Given the description of an element on the screen output the (x, y) to click on. 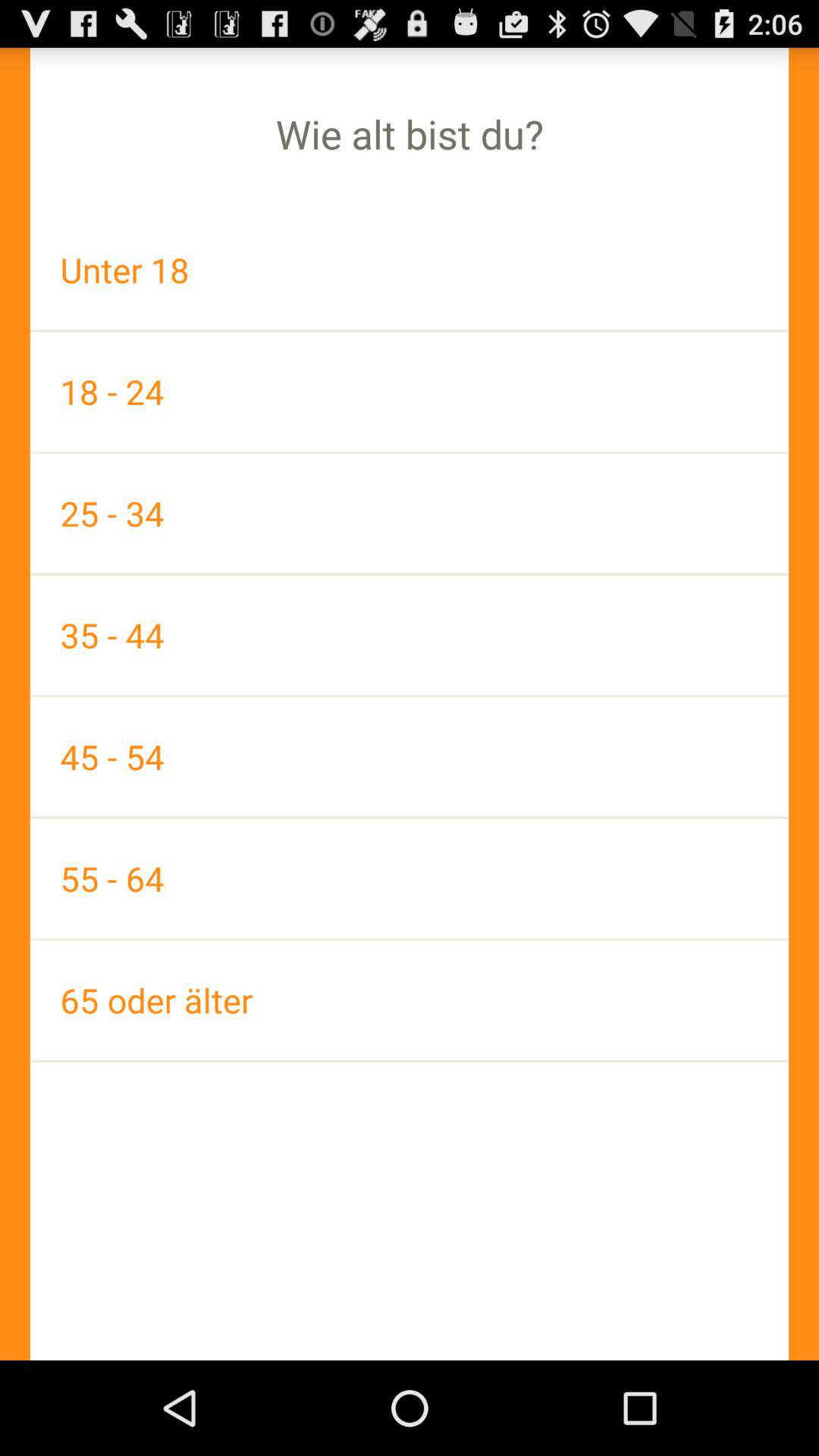
turn off the item below 55 - 64 item (409, 1000)
